Given the description of an element on the screen output the (x, y) to click on. 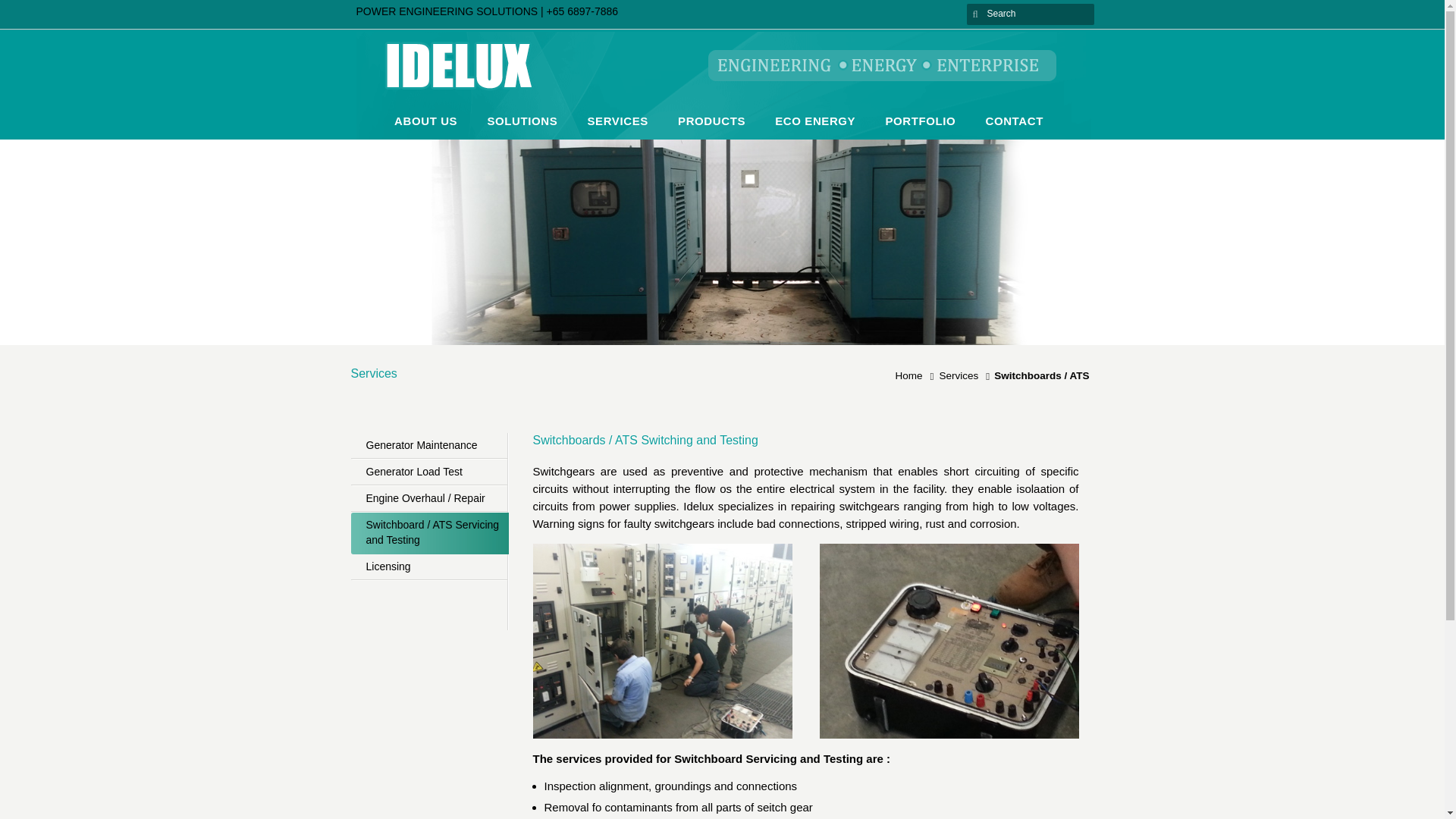
Services (961, 375)
PORTFOLIO (920, 128)
Search (1032, 13)
ECO ENERGY (815, 128)
SOLUTIONS (521, 128)
PRODUCTS (711, 128)
ABOUT US (425, 128)
CONTACT (1013, 128)
SERVICES (616, 128)
Generator Load Test (428, 472)
Home (911, 375)
Generator Maintenance (428, 446)
